Given the description of an element on the screen output the (x, y) to click on. 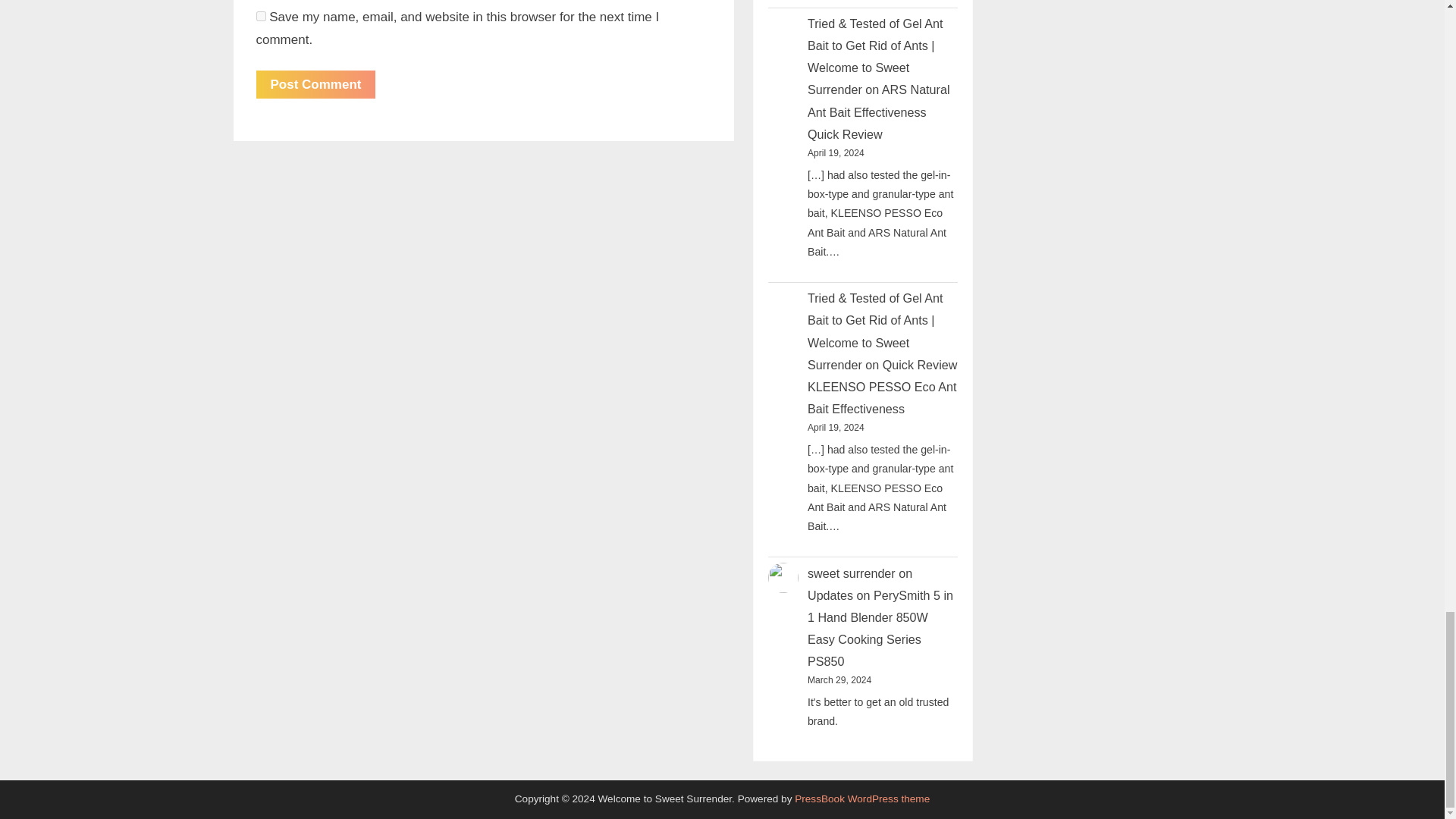
Post Comment (315, 84)
Post Comment (315, 84)
yes (261, 16)
